Given the description of an element on the screen output the (x, y) to click on. 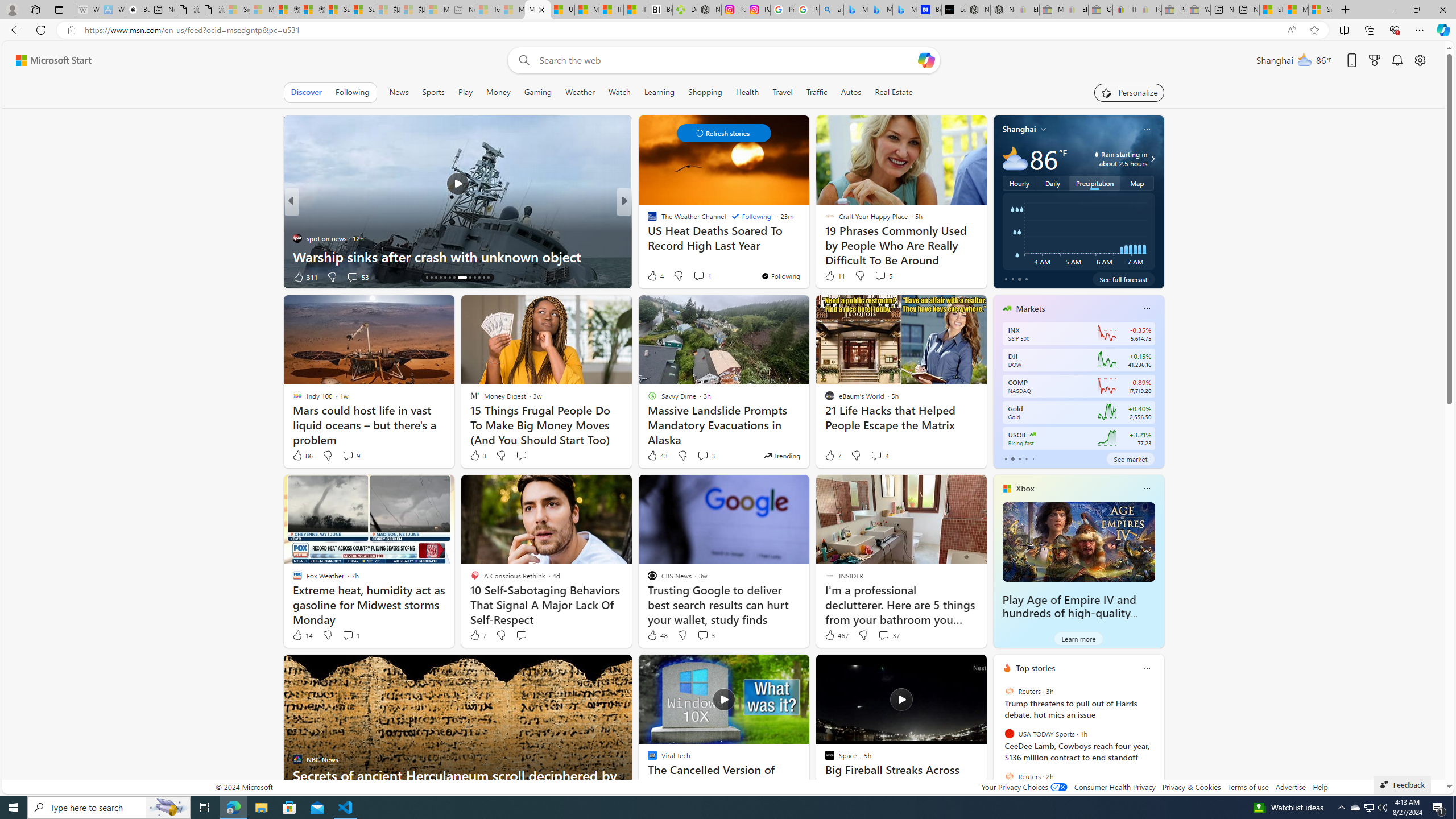
tab-1 (1012, 458)
Hide this story (952, 668)
Microsoft Bing Travel - Shangri-La Hotel Bangkok (904, 9)
Google is a monopoly. The fix isn't obvious (807, 256)
11 Like (834, 275)
View comments 9 Comment (347, 455)
14 Like (301, 634)
AutomationID: tab-23 (474, 277)
